Given the description of an element on the screen output the (x, y) to click on. 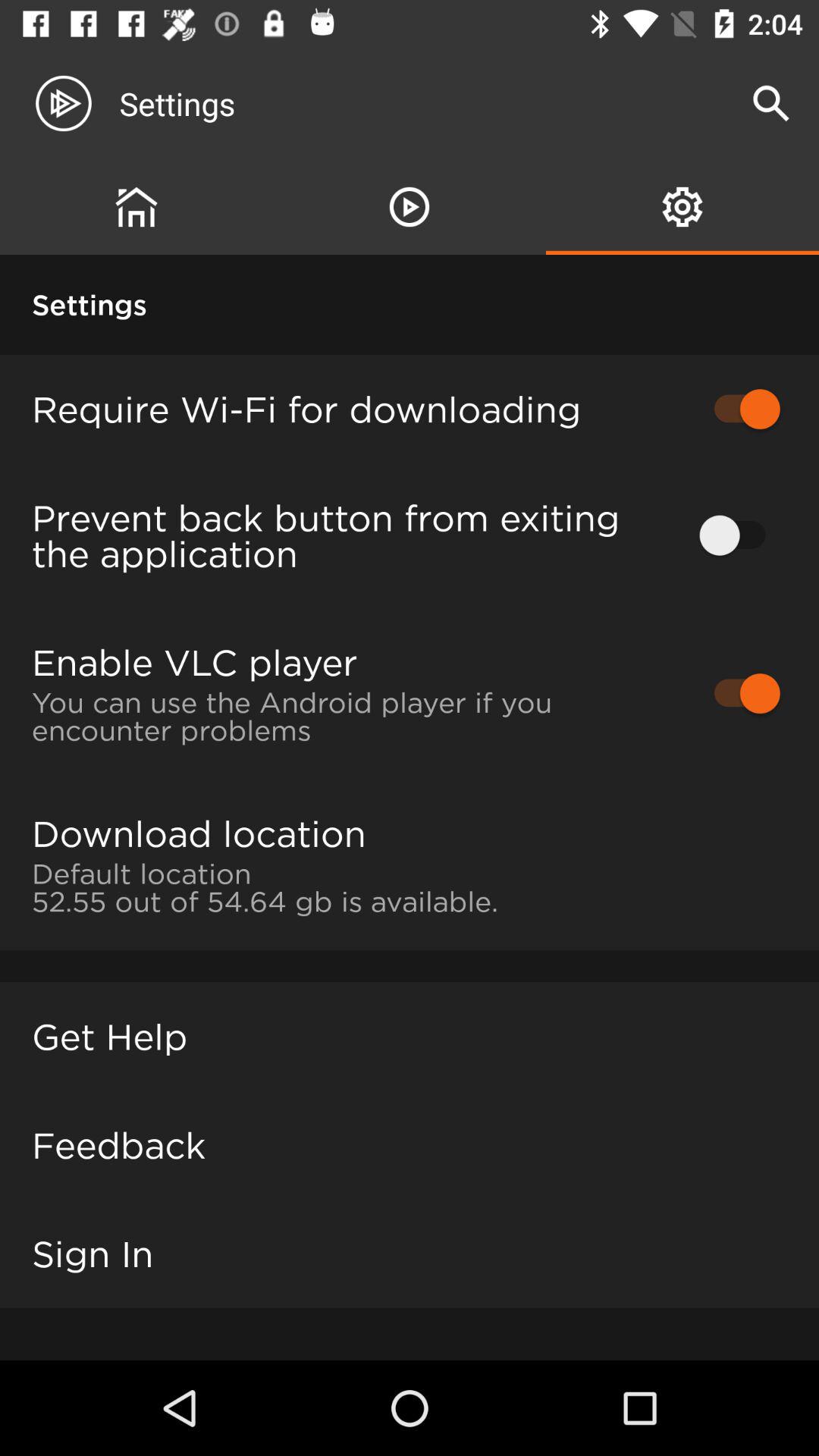
click icon next to prevent back button (739, 535)
